Given the description of an element on the screen output the (x, y) to click on. 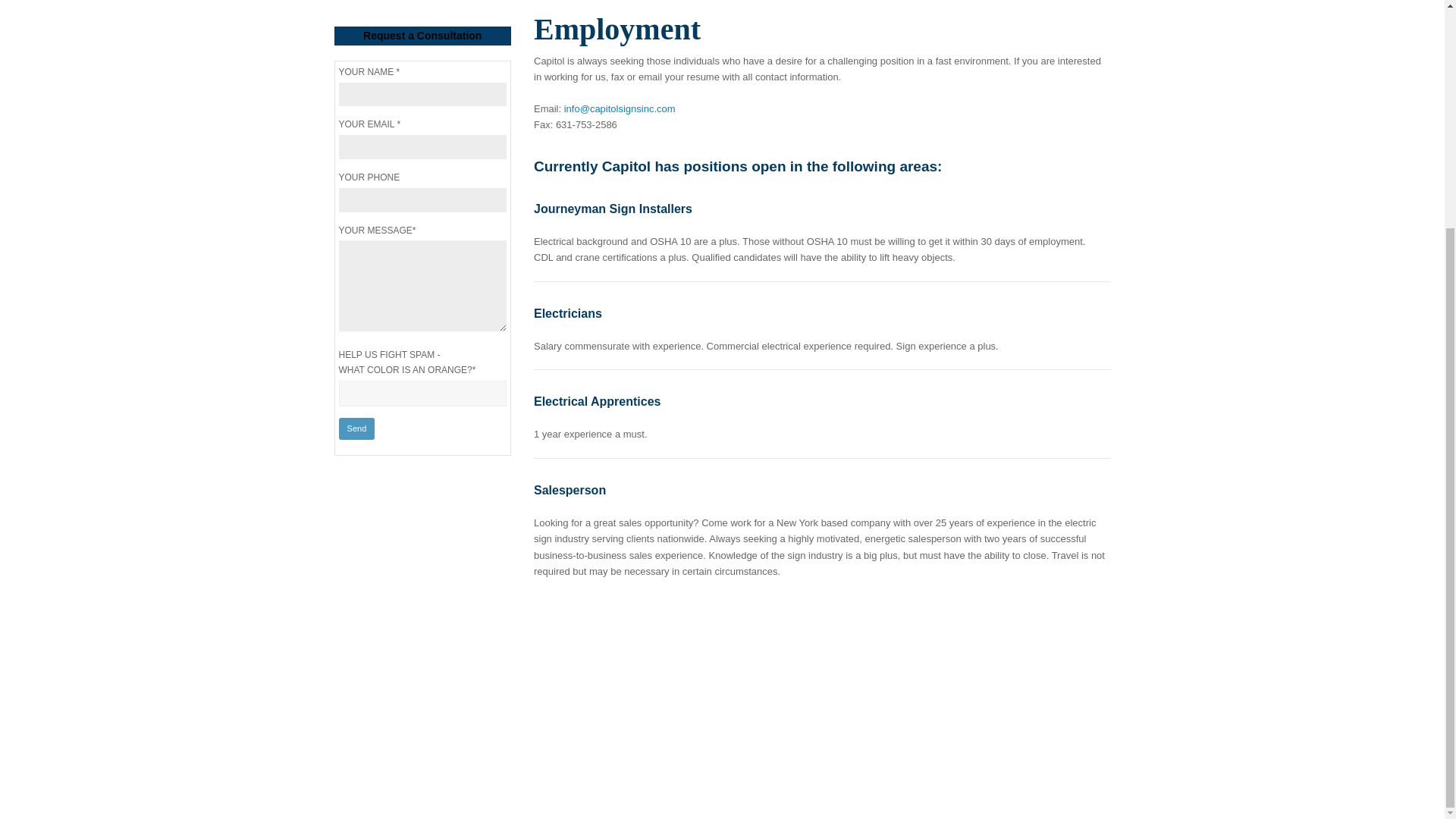
Send (355, 428)
Send (355, 428)
